Given the description of an element on the screen output the (x, y) to click on. 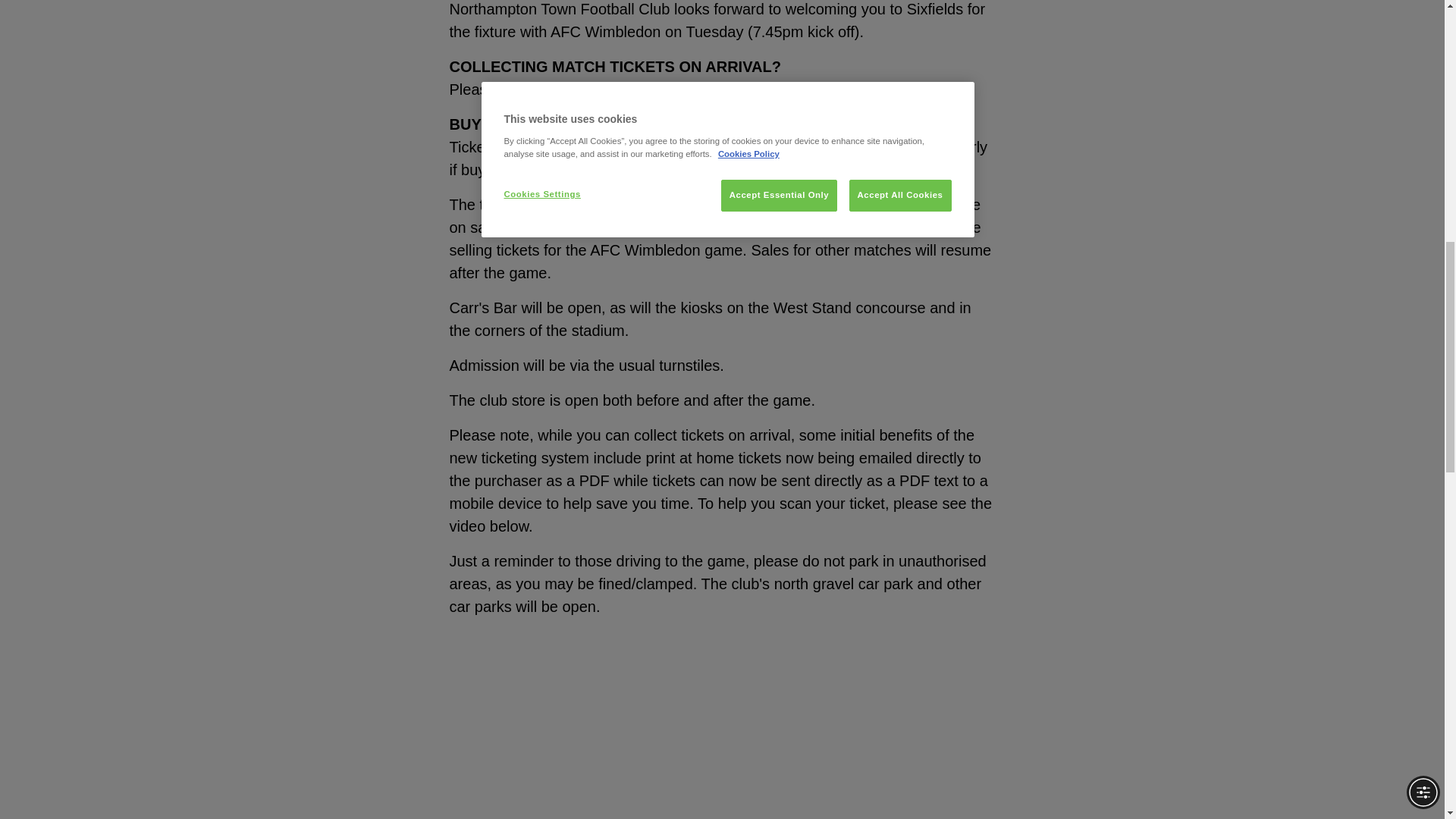
Embedded content (635, 742)
